Given the description of an element on the screen output the (x, y) to click on. 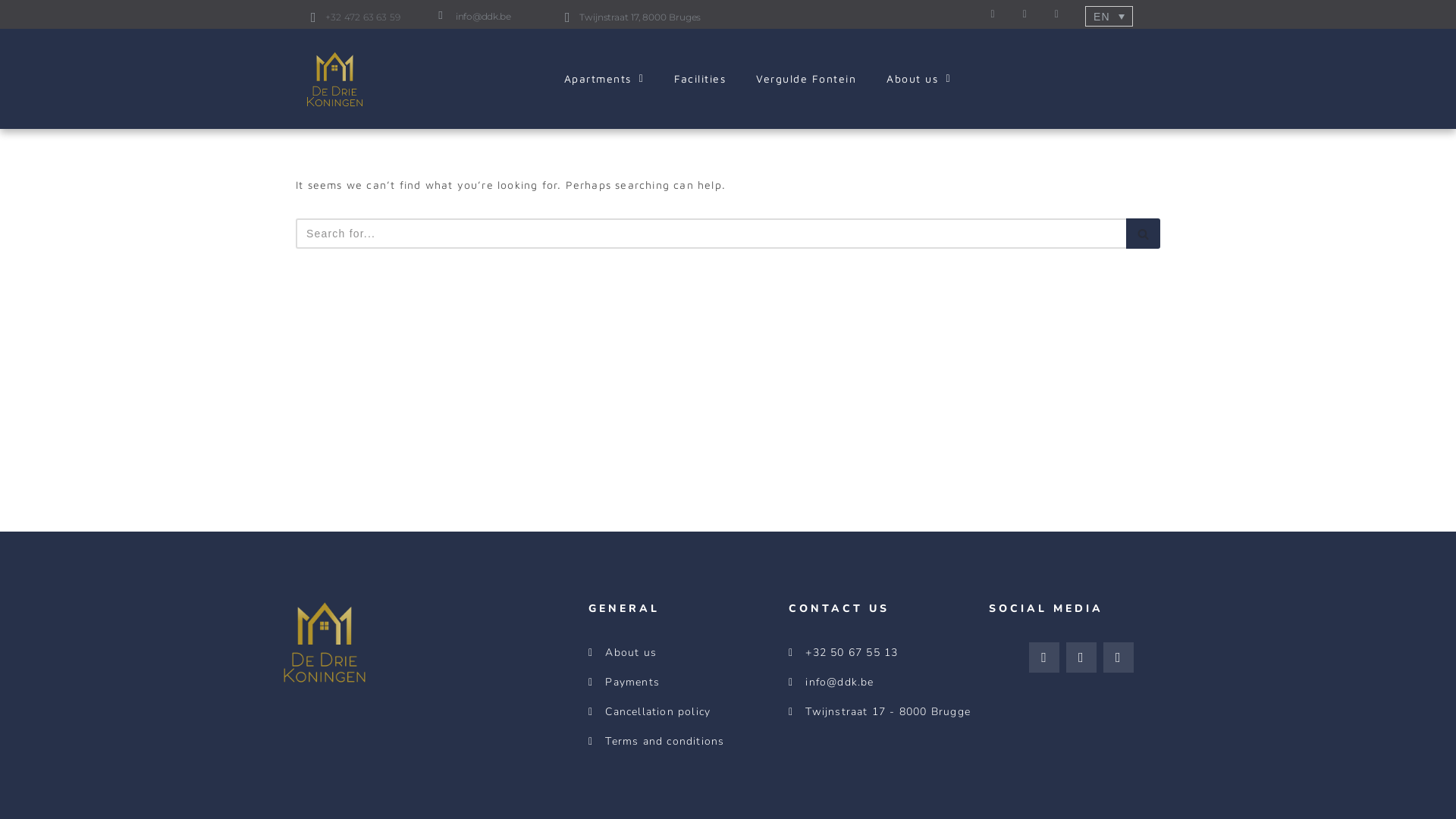
Skip to content Element type: text (11, 31)
Payments Element type: text (680, 682)
About us Element type: text (918, 78)
Facilities Element type: text (699, 78)
Terms and conditions Element type: text (680, 741)
EN Element type: text (1108, 16)
Vergulde Fontein Element type: text (805, 78)
About us Element type: text (680, 652)
Apartments Element type: text (604, 78)
Cancellation policy Element type: text (680, 711)
